Given the description of an element on the screen output the (x, y) to click on. 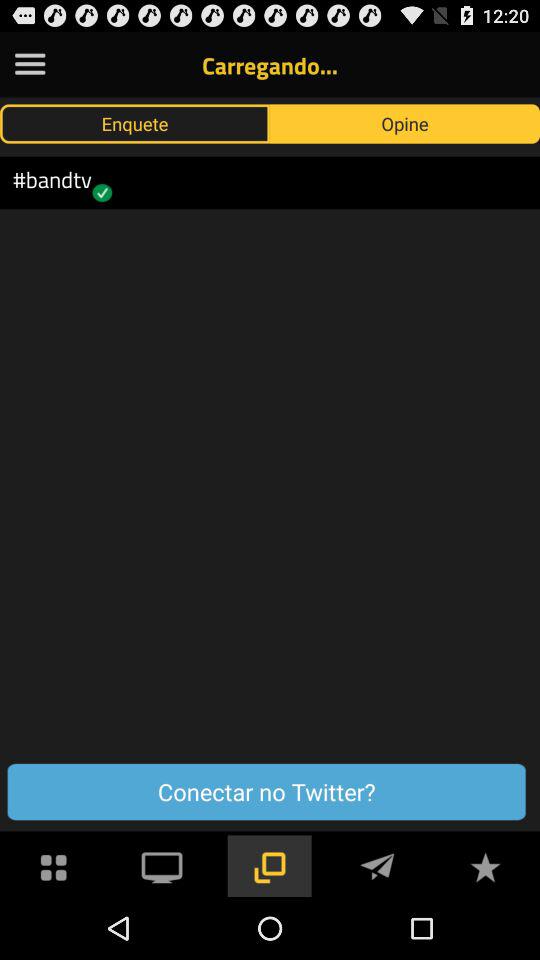
turn on conectar no twitter? button (266, 791)
